Given the description of an element on the screen output the (x, y) to click on. 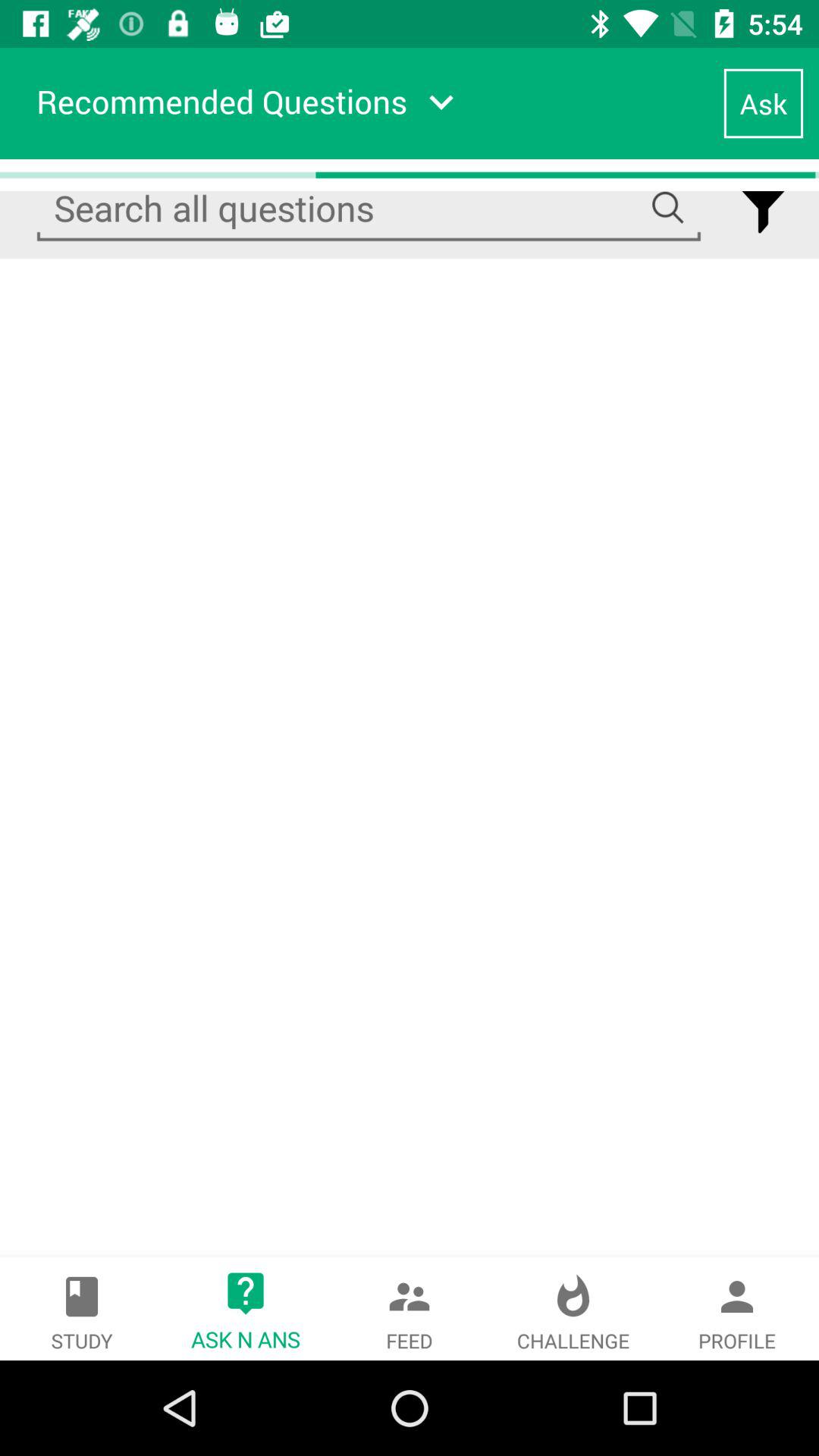
filter option (763, 208)
